Given the description of an element on the screen output the (x, y) to click on. 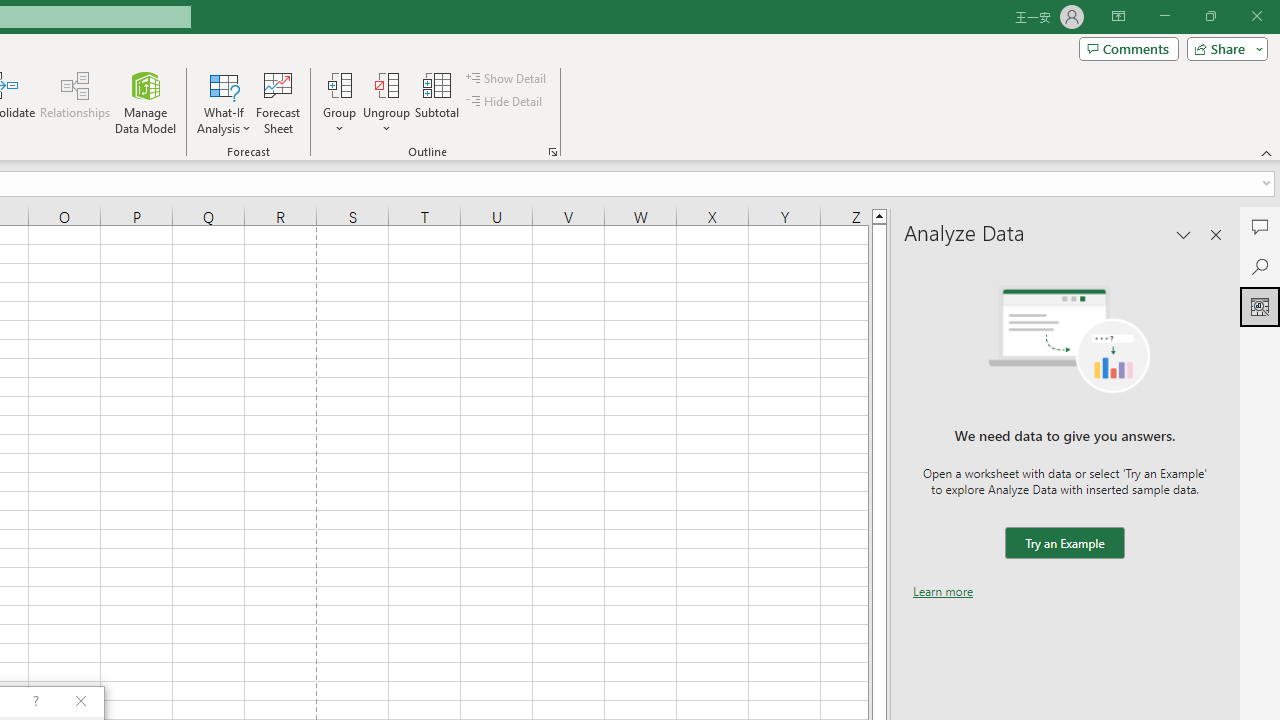
Relationships (75, 102)
Group and Outline Settings (552, 151)
Learn more (943, 591)
Search (1260, 266)
Forecast Sheet (278, 102)
We need data to give you answers. Try an Example (1064, 543)
Show Detail (507, 78)
